Given the description of an element on the screen output the (x, y) to click on. 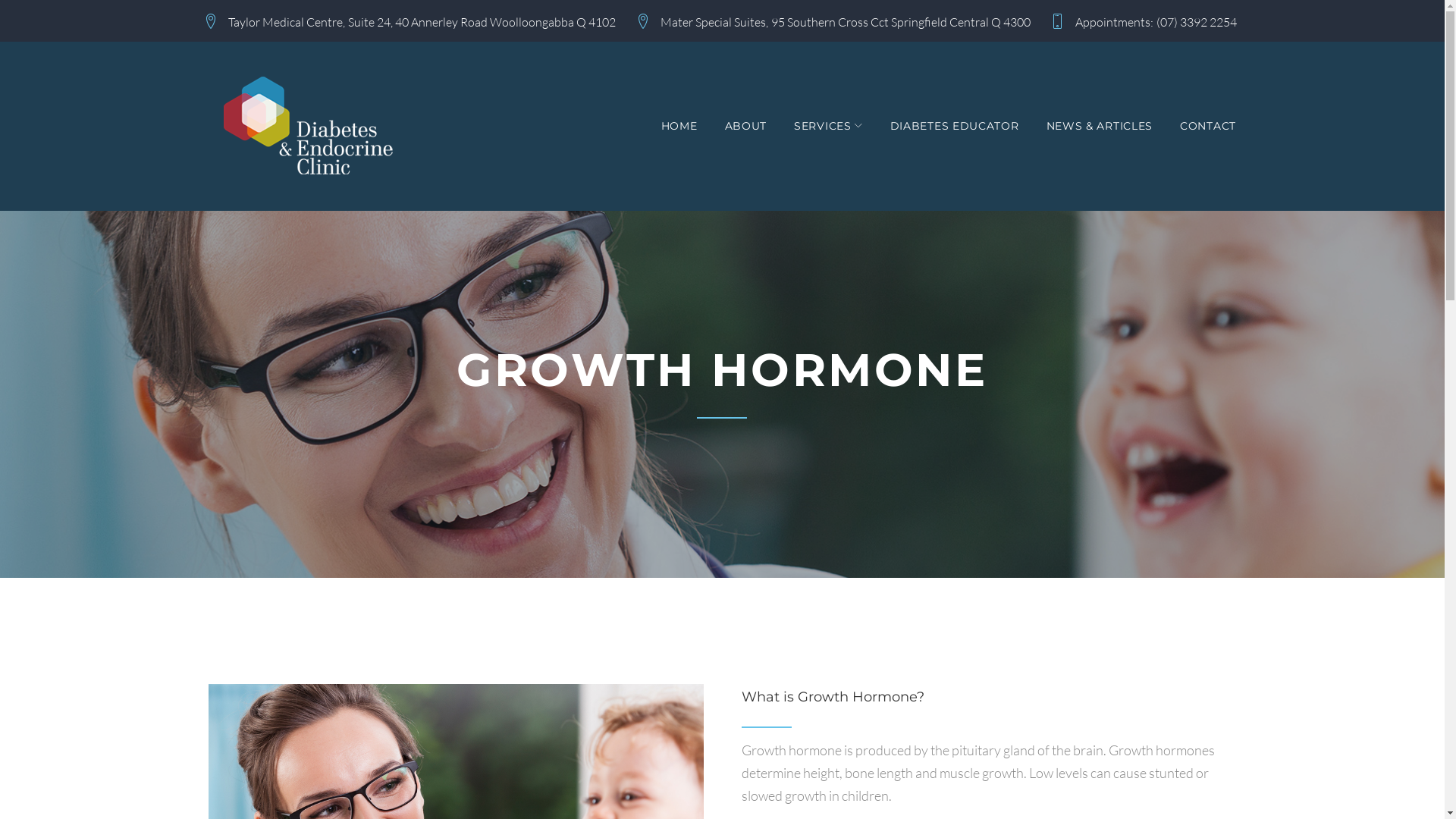
CONTACT Element type: text (1207, 125)
SERVICES Element type: text (827, 125)
Skip to content Element type: text (0, 0)
ABOUT Element type: text (745, 125)
(07) 3392 2254 Element type: text (1196, 21)
DIABETES EDUCATOR Element type: text (954, 125)
NEWS & ARTICLES Element type: text (1099, 125)
HOME Element type: text (679, 125)
